Given the description of an element on the screen output the (x, y) to click on. 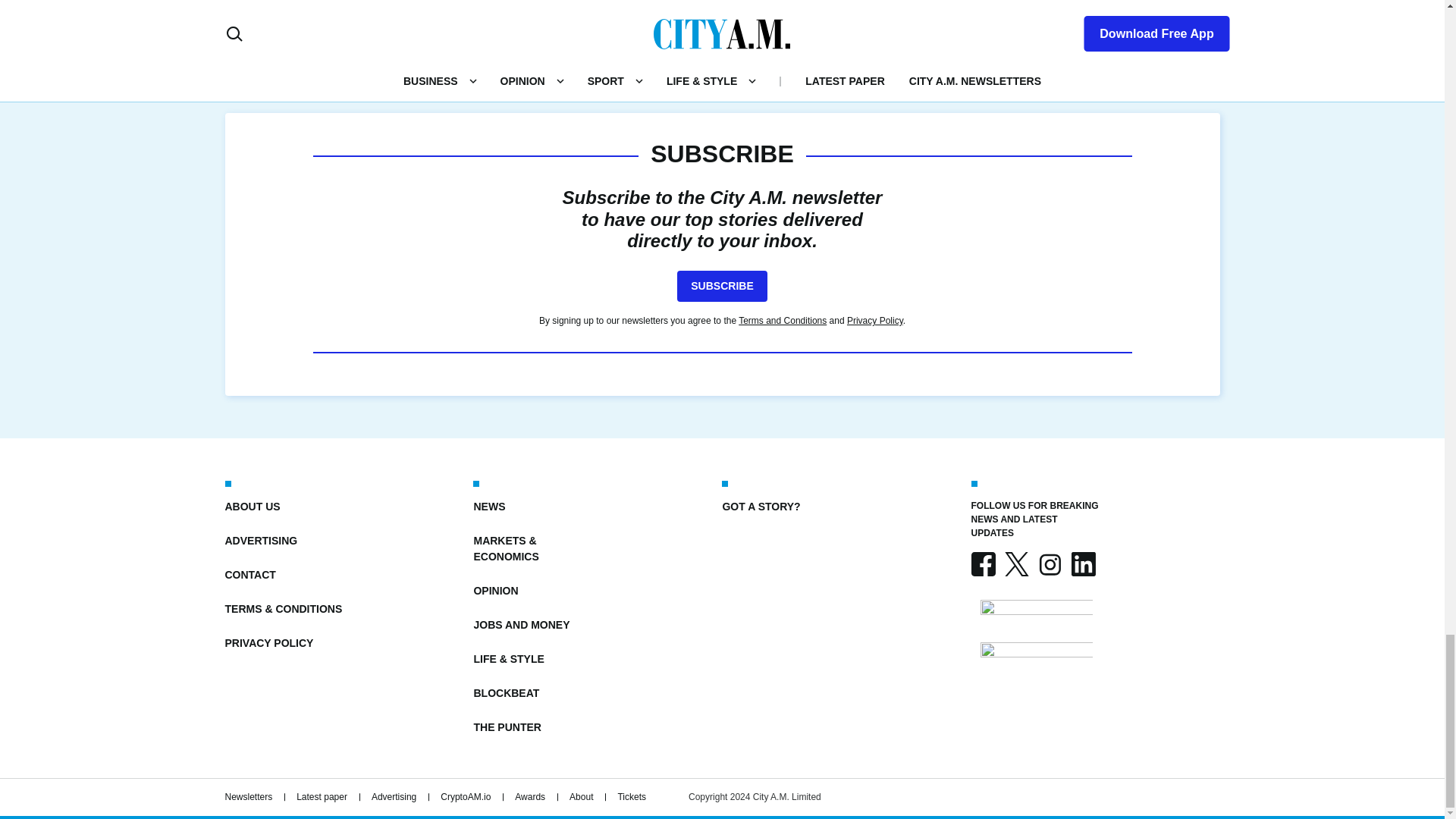
INSTAGRAM (1048, 564)
X (1015, 564)
FACEBOOK (982, 564)
LINKEDIN (1082, 564)
